Given the description of an element on the screen output the (x, y) to click on. 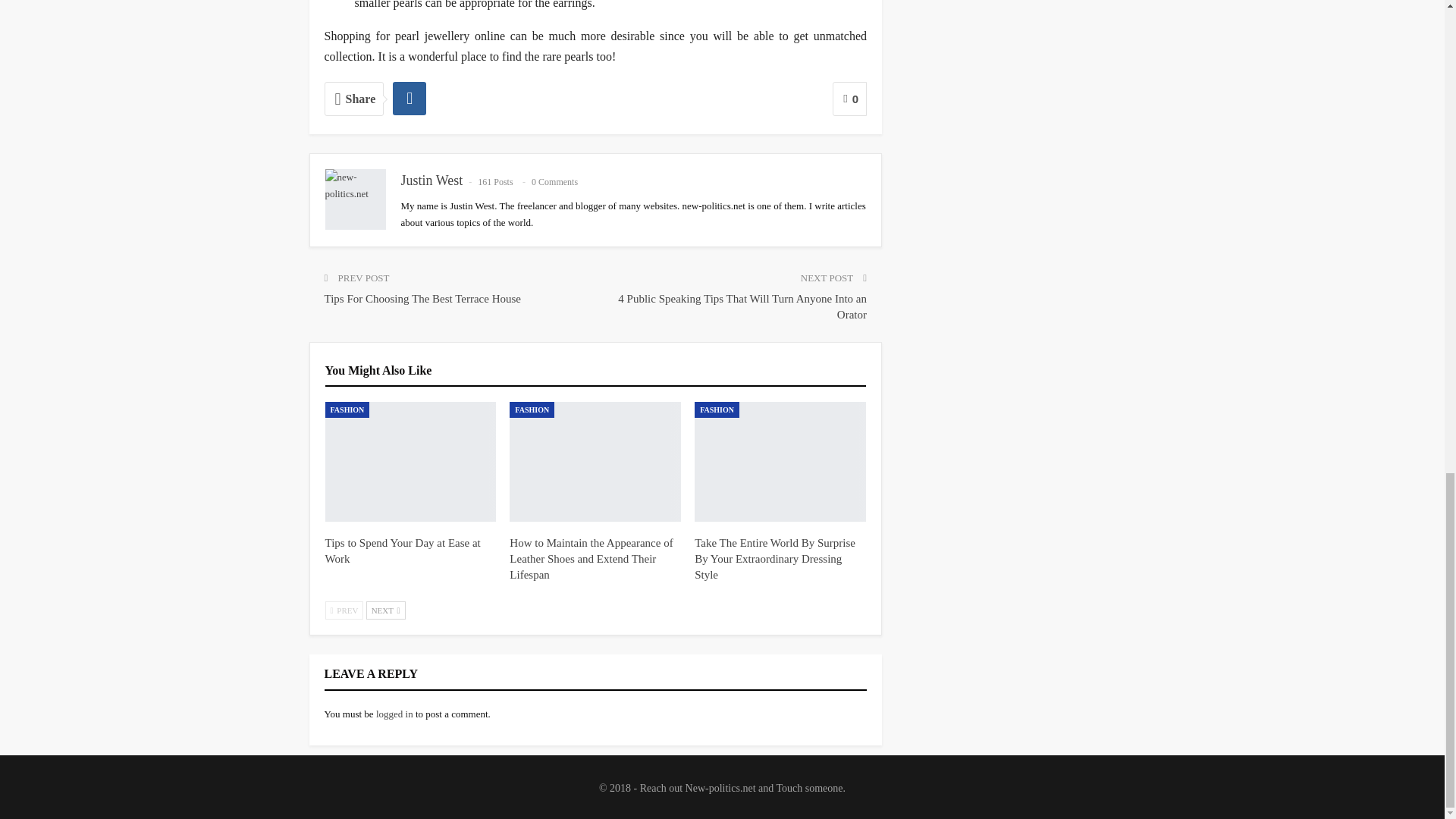
Tips For Choosing The Best Terrace House (422, 298)
0 (849, 98)
Tips to Spend Your Day at Ease at Work (402, 551)
Justin West (431, 180)
4 Public Speaking Tips That Will Turn Anyone Into an Orator (741, 306)
Tips to Spend Your Day at Ease at Work (410, 461)
